Given the description of an element on the screen output the (x, y) to click on. 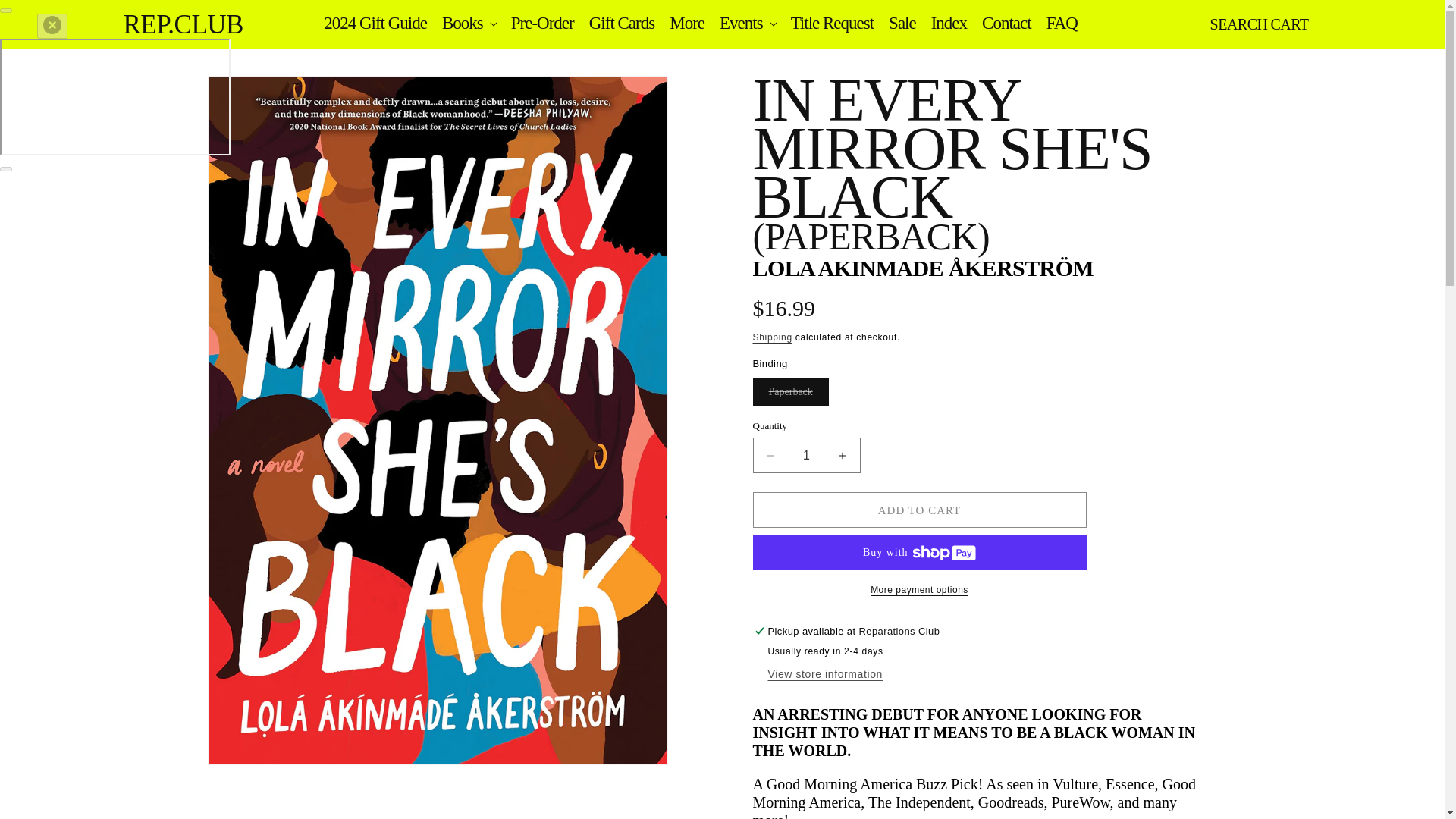
1 (806, 455)
Skip to content (45, 17)
